Given the description of an element on the screen output the (x, y) to click on. 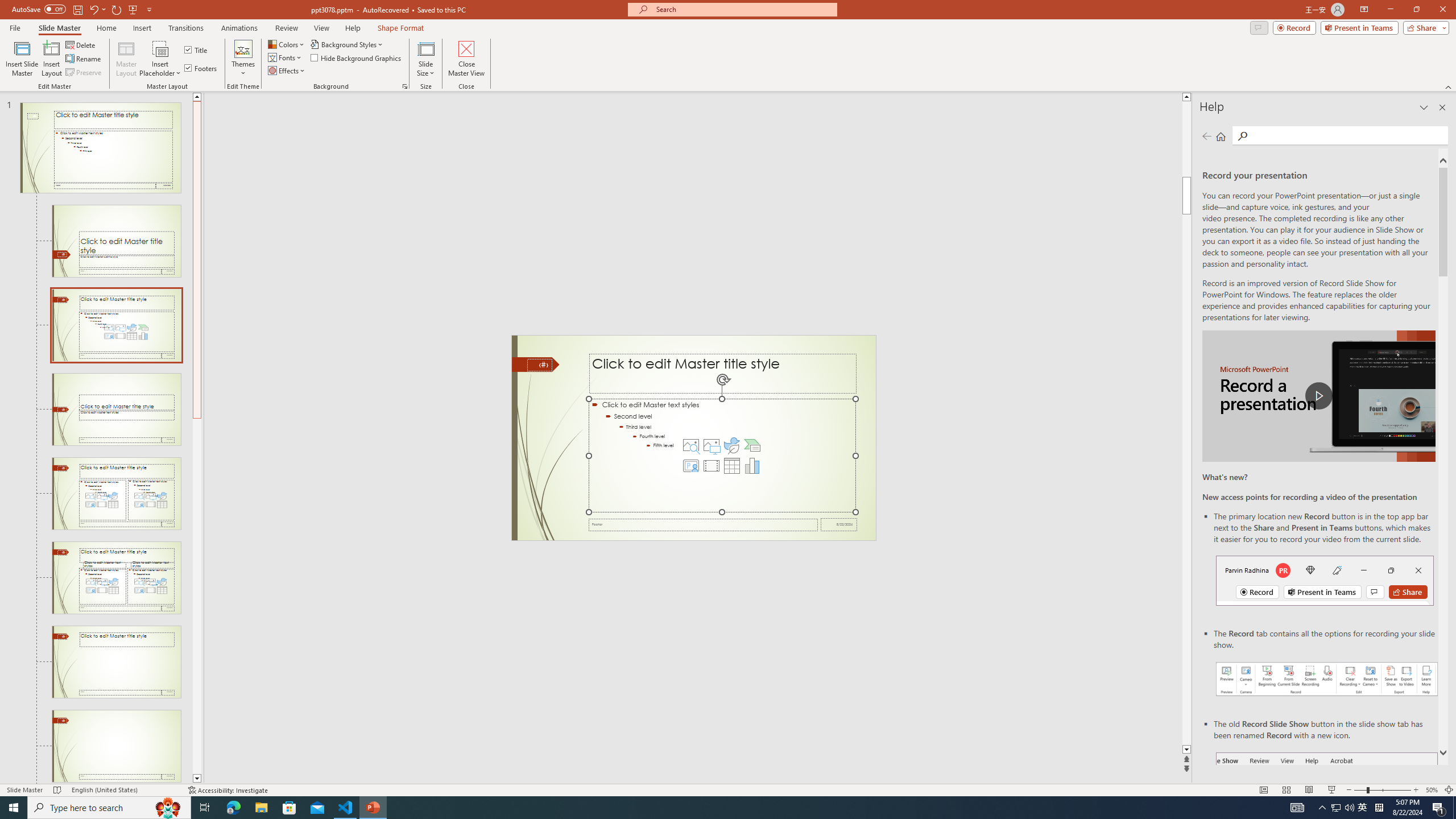
Zoom 50% (1431, 790)
Shape Format (400, 28)
Insert Slide Master (21, 58)
Slide Blank Layout: used by no slides (116, 746)
play Record a Presentation (1318, 395)
Colors (287, 44)
Stock Images (690, 445)
Pictures (710, 445)
Title TextBox (722, 373)
Page up (1186, 138)
Title (196, 49)
